Given the description of an element on the screen output the (x, y) to click on. 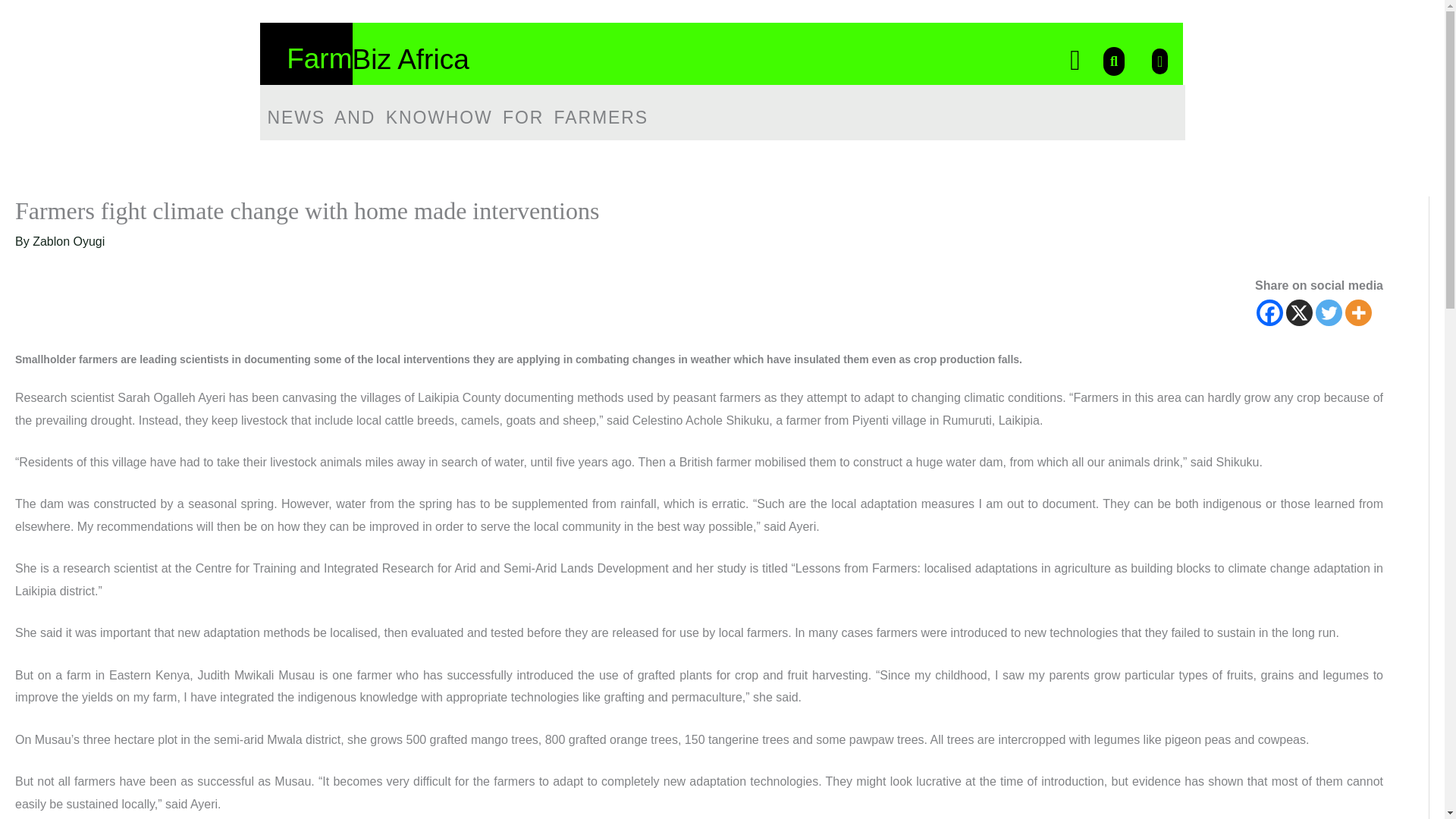
More (1358, 312)
X (1299, 312)
Zablon Oyugi (68, 241)
Biz Africa (410, 59)
View all posts by Zablon Oyugi (68, 241)
Twitter (1329, 312)
Farm (319, 58)
Facebook (1269, 312)
